Given the description of an element on the screen output the (x, y) to click on. 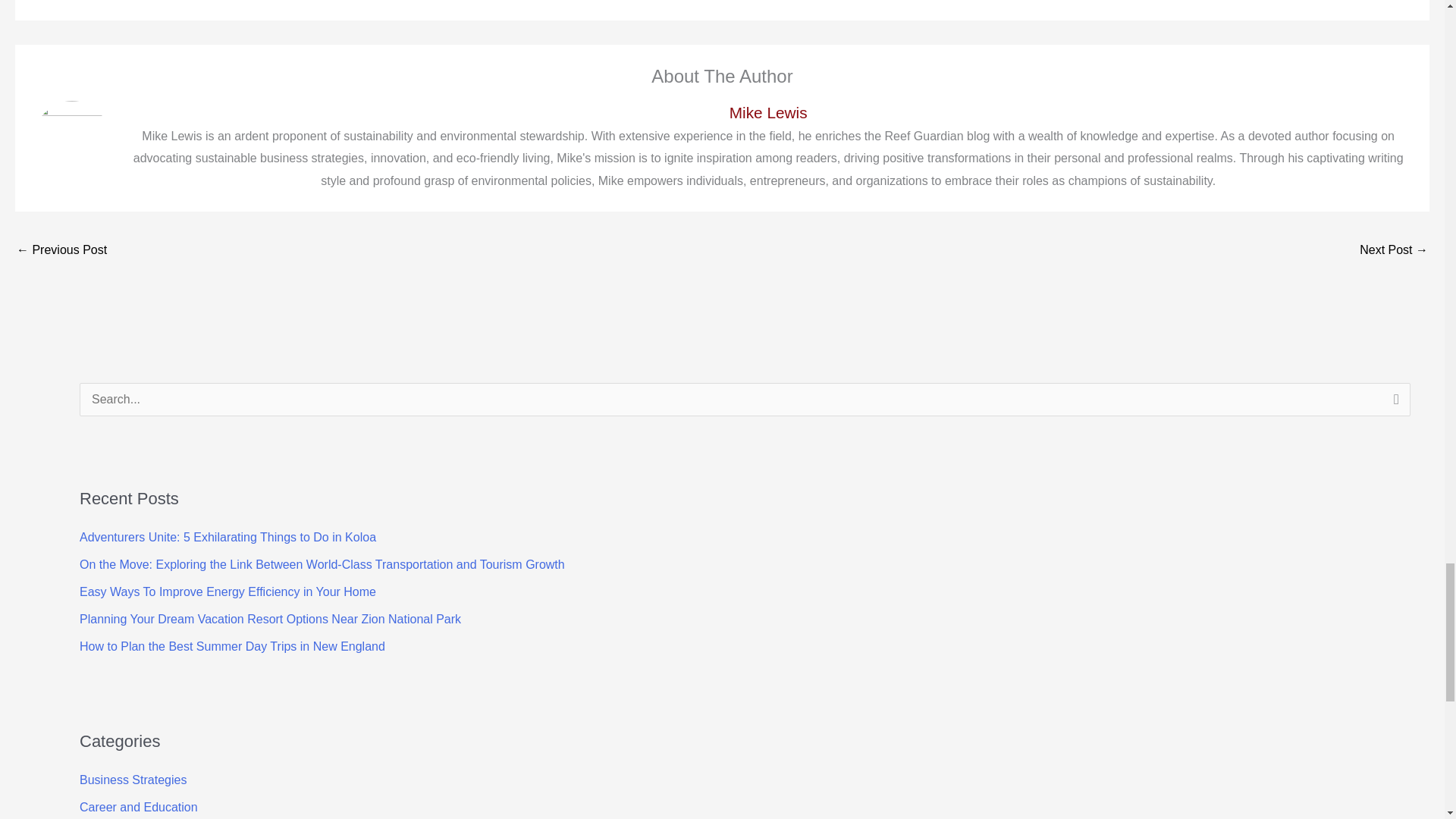
Career and Education (139, 807)
How to Support Kids in their Love for the Arts (1393, 251)
How to Plan the Best Summer Day Trips in New England (232, 645)
How to Dress for Success During a Job Interview (61, 251)
Easy Ways To Improve Energy Efficiency in Your Home (227, 591)
Adventurers Unite: 5 Exhilarating Things to Do in Koloa (227, 536)
Business Strategies (133, 779)
Mike Lewis (767, 112)
